Given the description of an element on the screen output the (x, y) to click on. 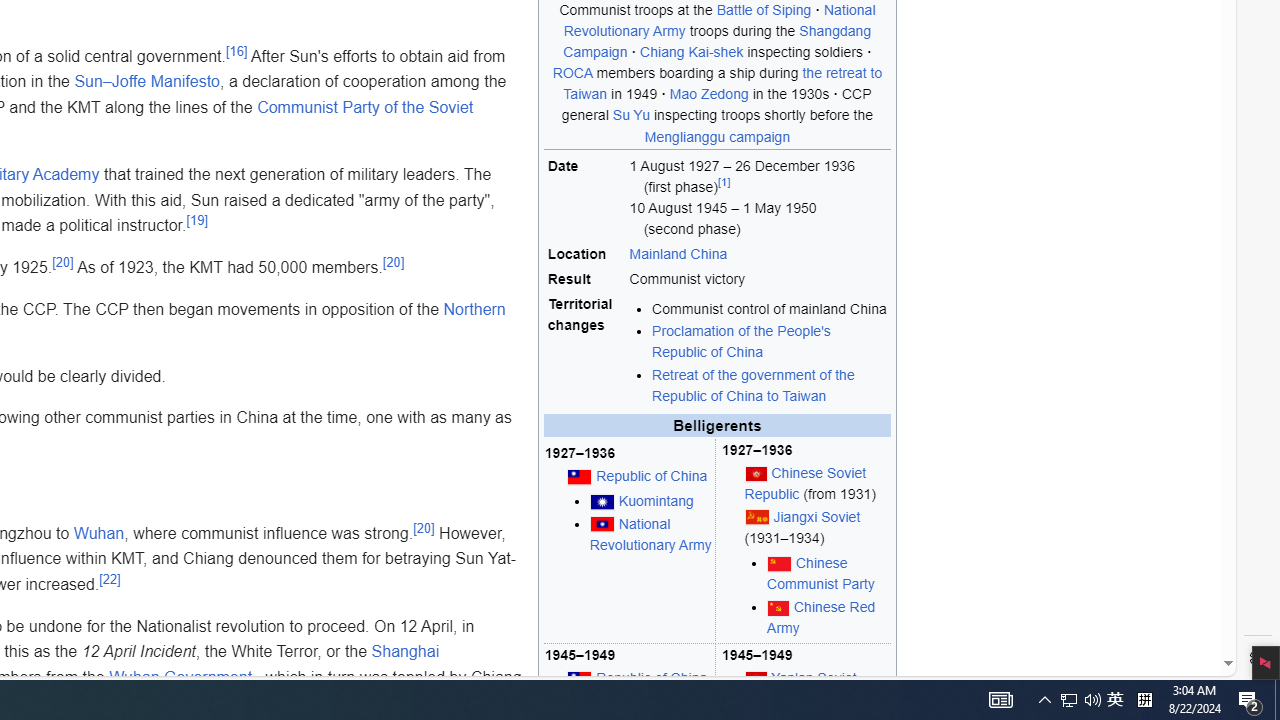
Retreat of the government of the Republic of China to Taiwan (769, 385)
 Chinese Red Army (828, 617)
[1] (723, 181)
Yan'an Soviet (813, 677)
Proclamation of the People's Republic of China (769, 342)
ROCA (571, 73)
National Revolutionary Army (649, 533)
 Kuomintang (651, 501)
Retreat of the government of the Republic of China to Taiwan (753, 384)
Shangdang Campaign (717, 42)
 Chinese Communist Party (828, 574)
Wuhan (98, 533)
